Given the description of an element on the screen output the (x, y) to click on. 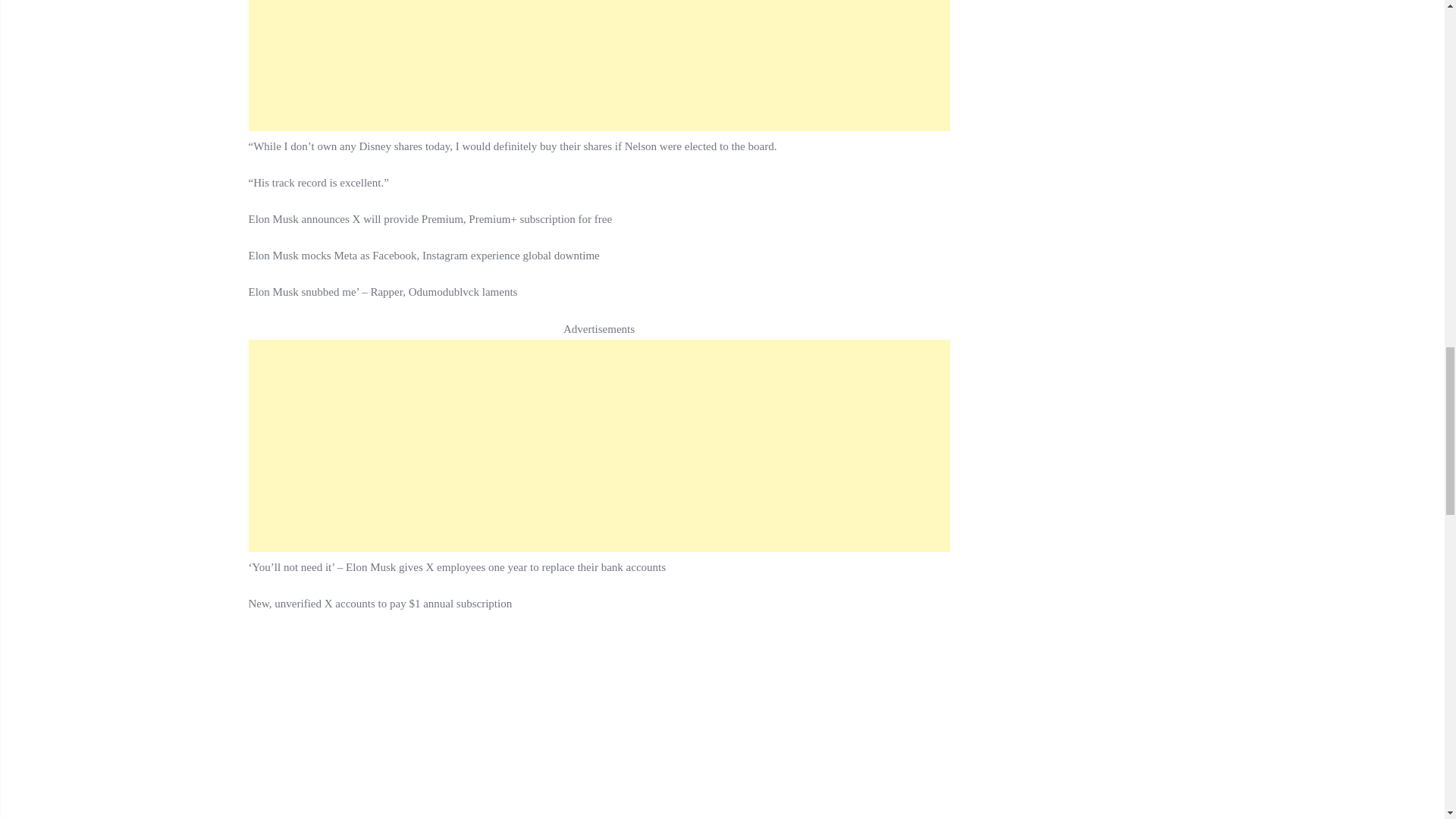
YouTube video player (460, 724)
